Given the description of an element on the screen output the (x, y) to click on. 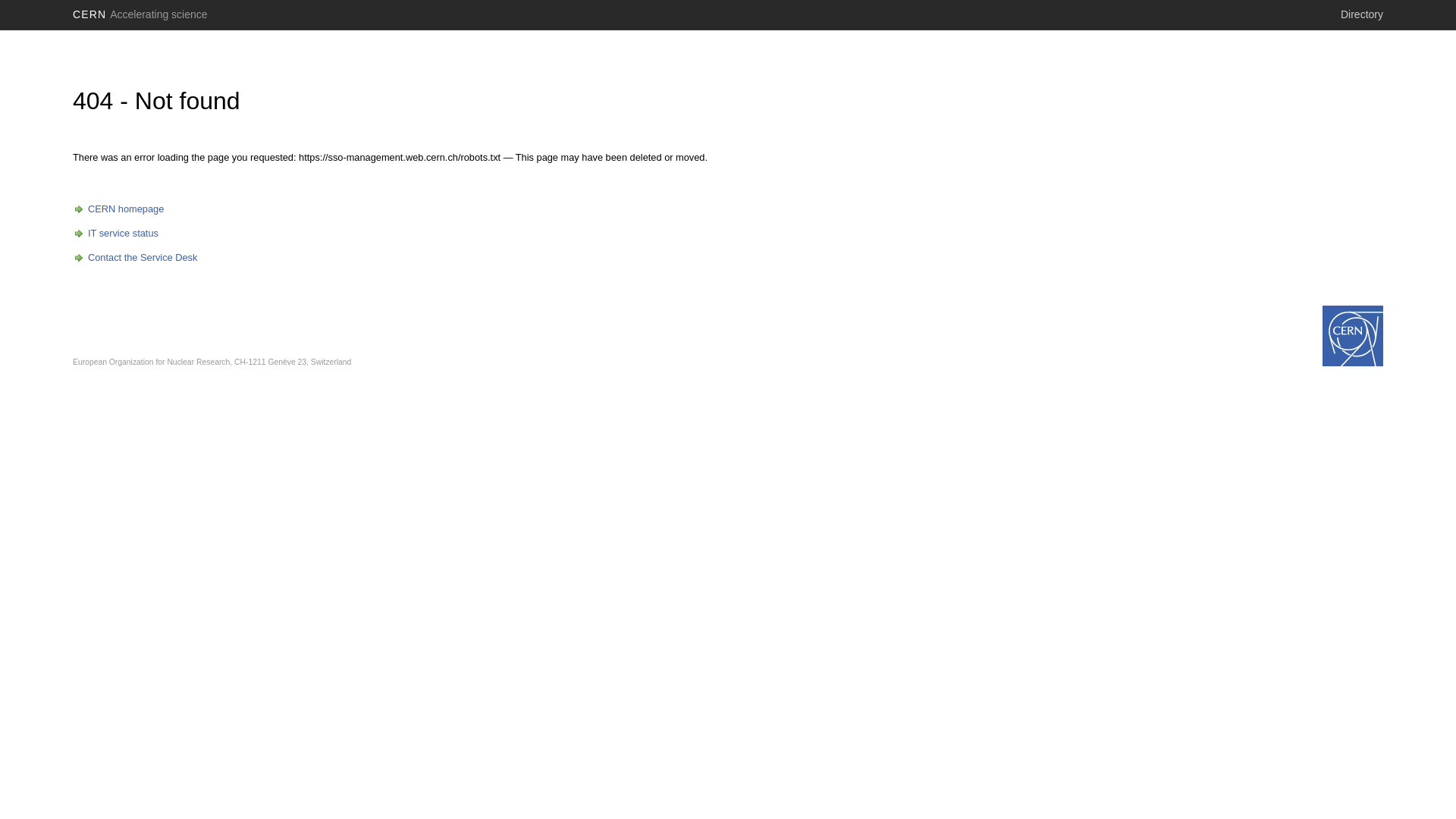
CERN Accelerating science Element type: text (139, 14)
IT service status Element type: text (115, 232)
Directory Element type: text (1361, 14)
CERN homepage Element type: text (117, 208)
home.cern Element type: hover (1352, 335)
Contact the Service Desk Element type: text (134, 257)
